Given the description of an element on the screen output the (x, y) to click on. 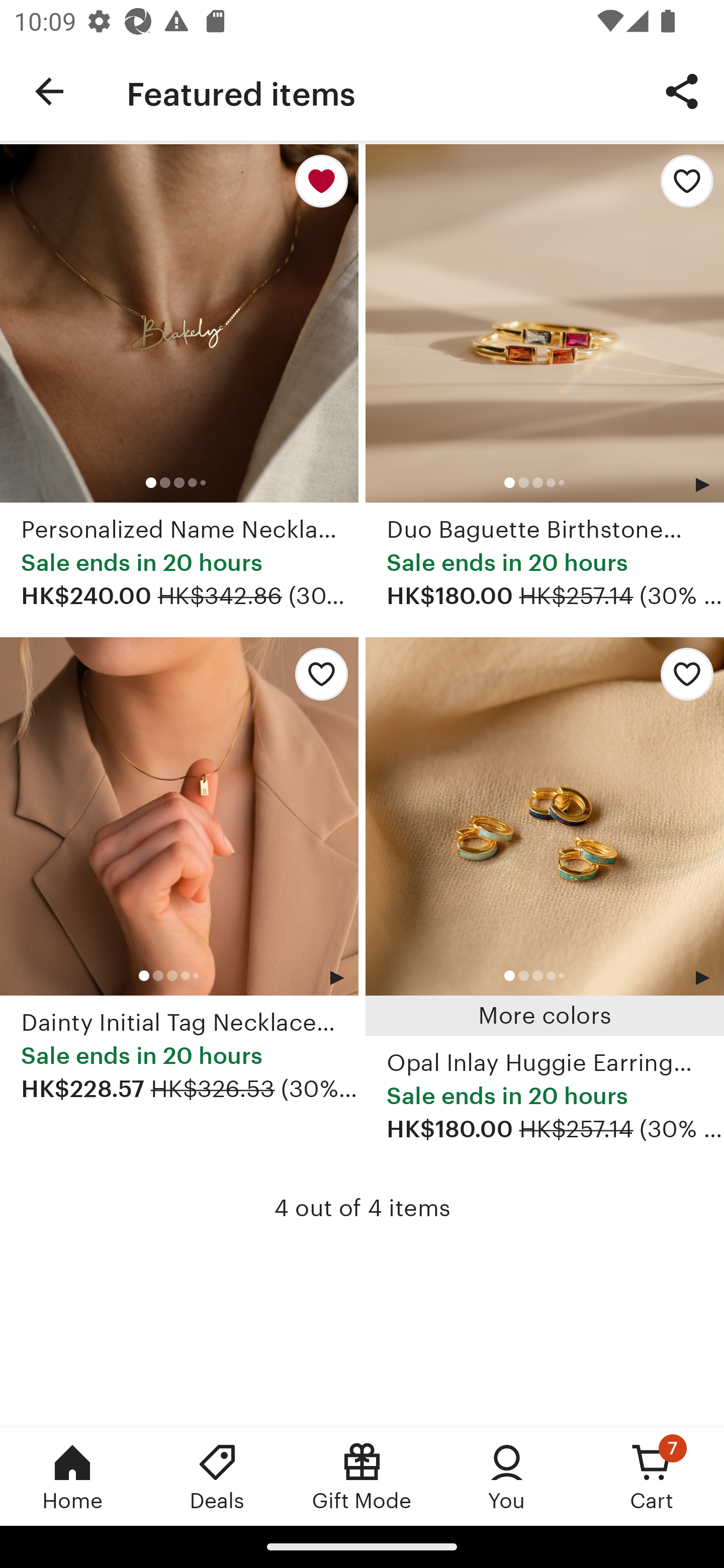
Navigate up (49, 91)
Share Button (681, 90)
Deals (216, 1475)
Gift Mode (361, 1475)
You (506, 1475)
Cart, 7 new notifications Cart (651, 1475)
